Given the description of an element on the screen output the (x, y) to click on. 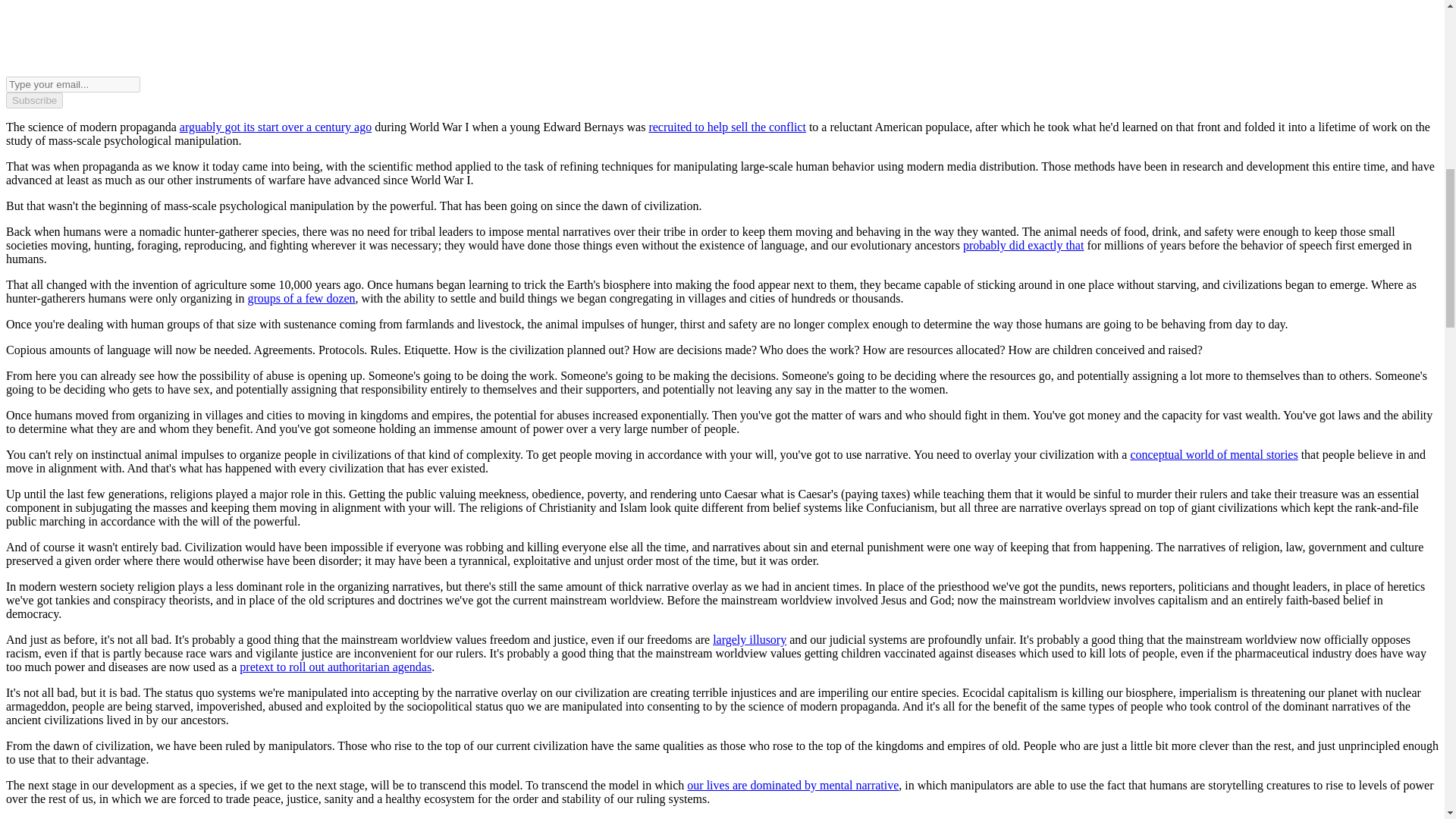
our lives are dominated by mental narrative (792, 784)
conceptual world of mental stories (1213, 454)
largely illusory (749, 639)
Subscribe (33, 100)
arguably got its start over a century ago (275, 126)
pretext to roll out authoritarian agendas (335, 666)
groups of a few dozen (301, 297)
recruited to help sell the conflict (726, 126)
probably did exactly that (1023, 245)
